Given the description of an element on the screen output the (x, y) to click on. 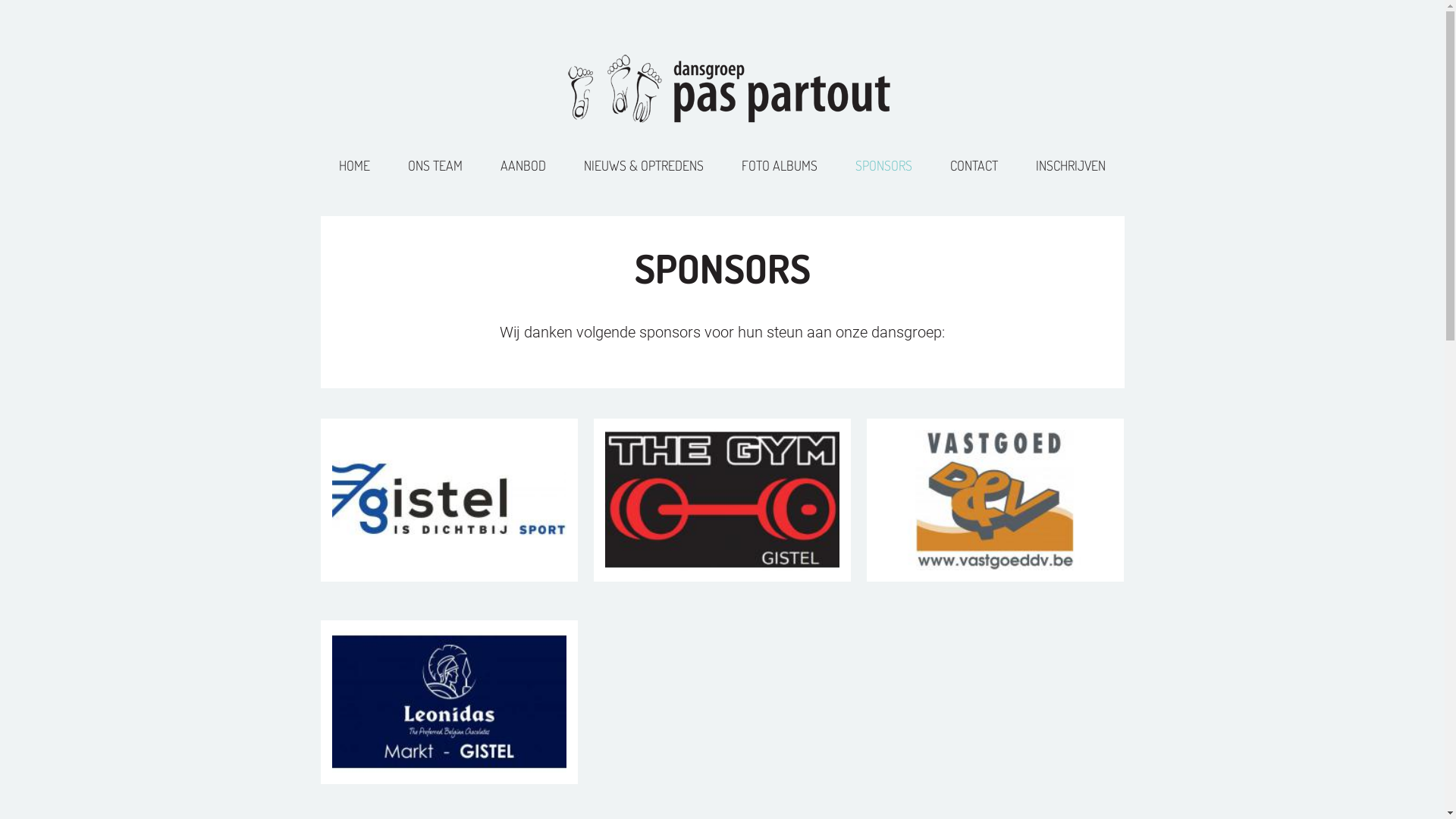
ONS TEAM Element type: text (435, 165)
Stad Gistel Element type: hover (449, 500)
INSCHRIJVEN Element type: text (1070, 165)
Leonidas Gistel Element type: hover (449, 701)
The Gym Gistel Element type: hover (722, 500)
HOME Element type: text (354, 165)
AANBOD Element type: text (522, 165)
CONTACT Element type: text (973, 165)
NIEUWS & OPTREDENS Element type: text (643, 165)
FOTO ALBUMS Element type: text (779, 165)
D&V Vastgoed Gistel Element type: hover (995, 500)
SPONSORS Element type: text (883, 165)
Home Element type: hover (721, 76)
